Given the description of an element on the screen output the (x, y) to click on. 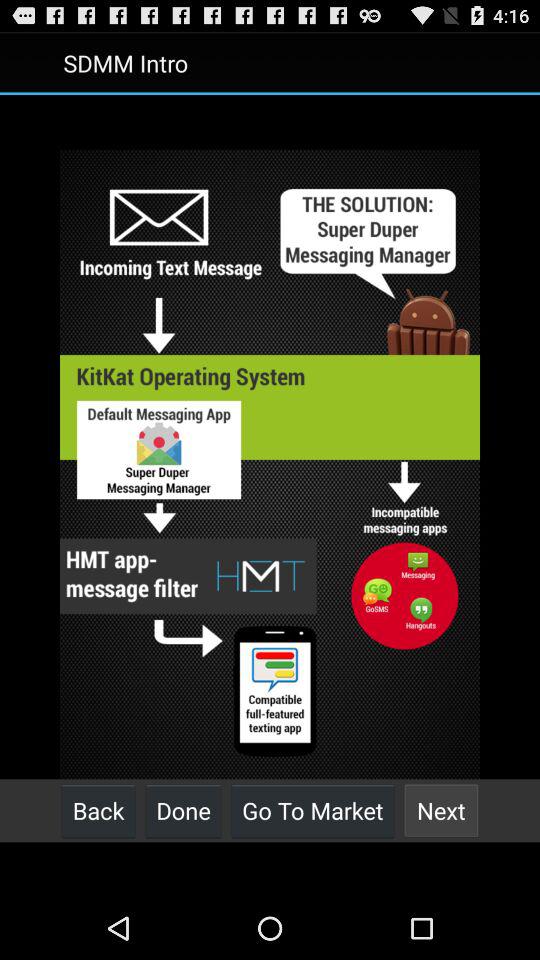
swipe until the next item (441, 810)
